Given the description of an element on the screen output the (x, y) to click on. 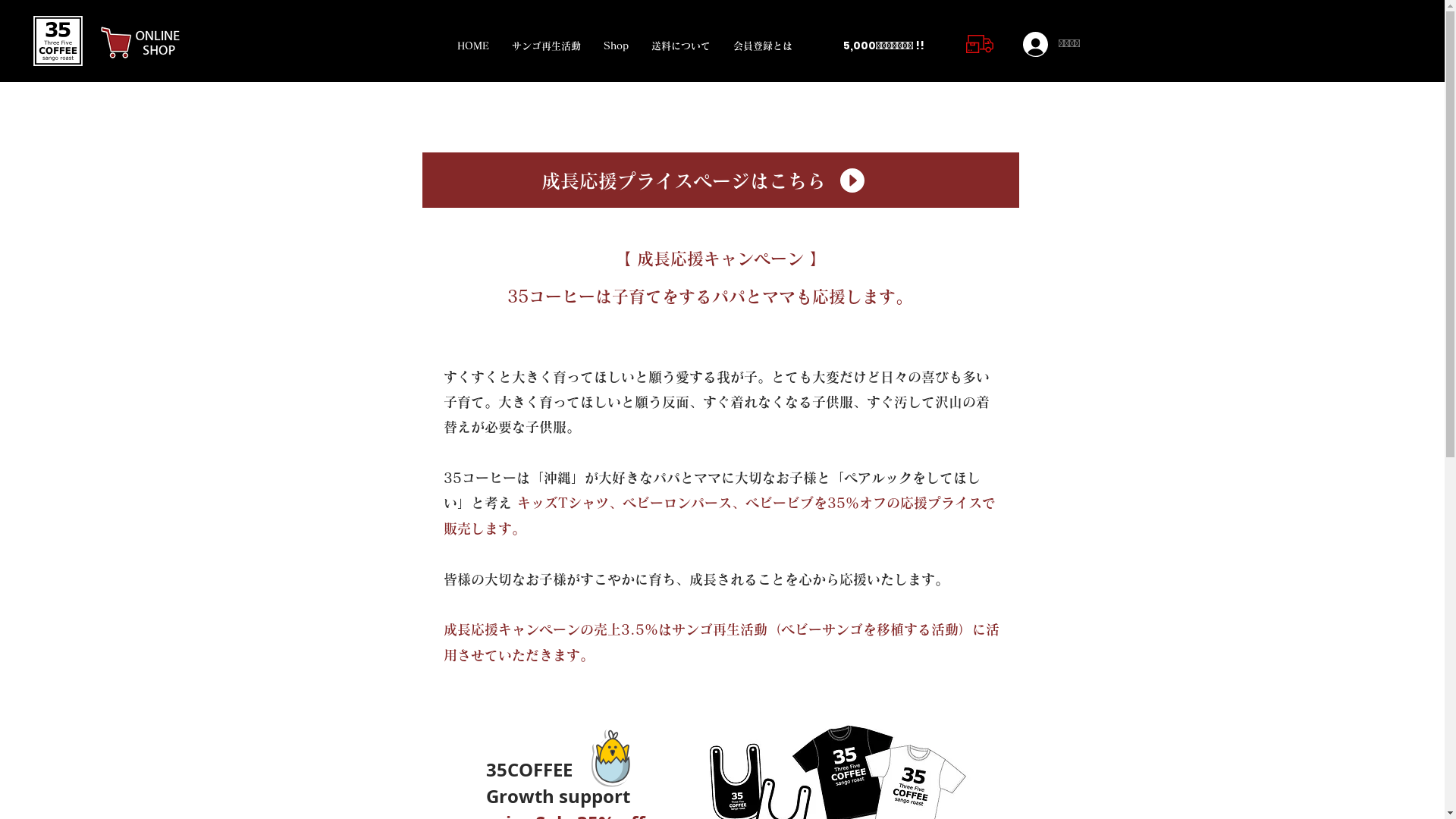
HOME Element type: text (472, 45)
Shop Element type: text (615, 45)
